Given the description of an element on the screen output the (x, y) to click on. 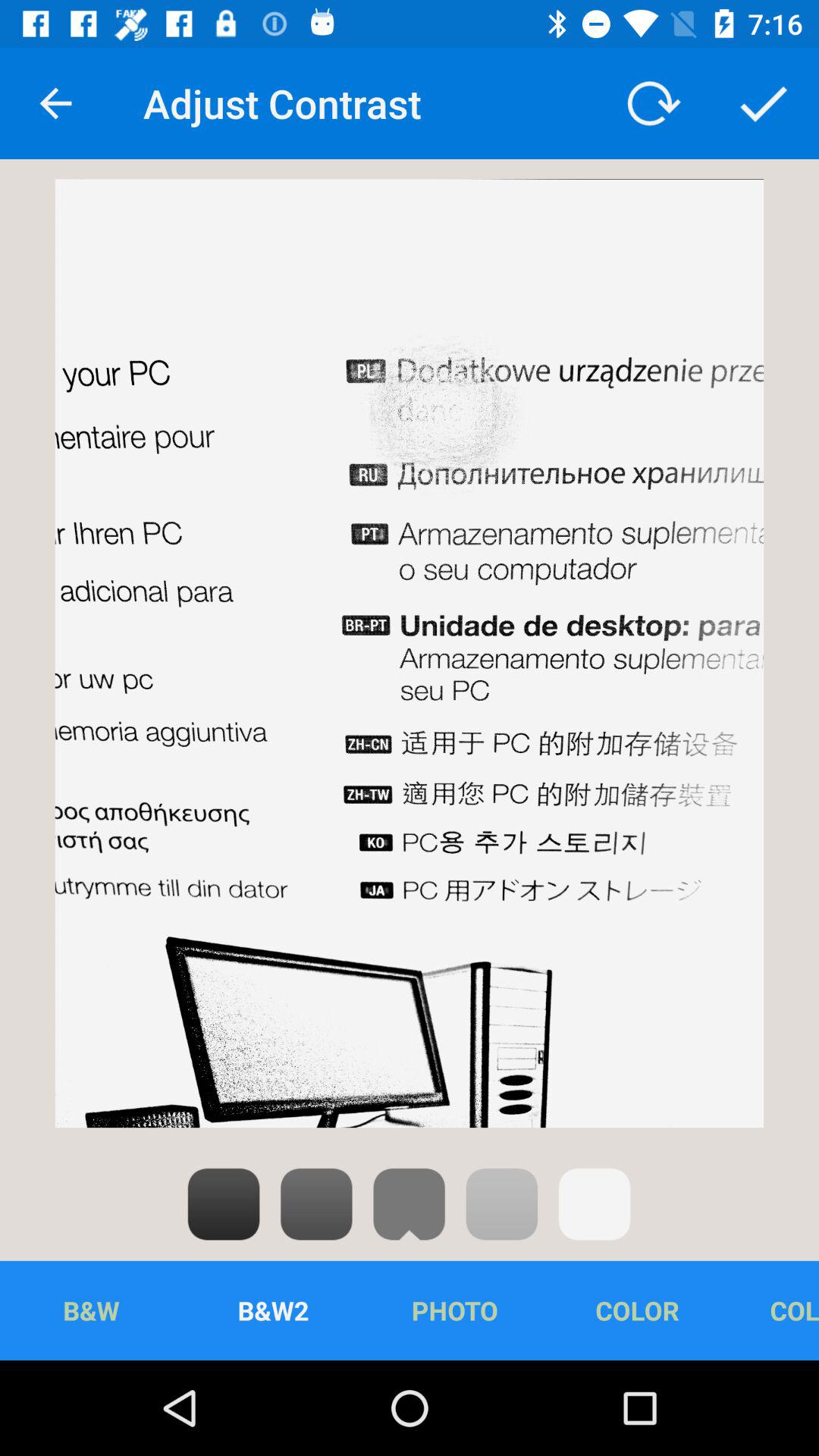
tap icon to the right of the adjust contrast (651, 103)
